Given the description of an element on the screen output the (x, y) to click on. 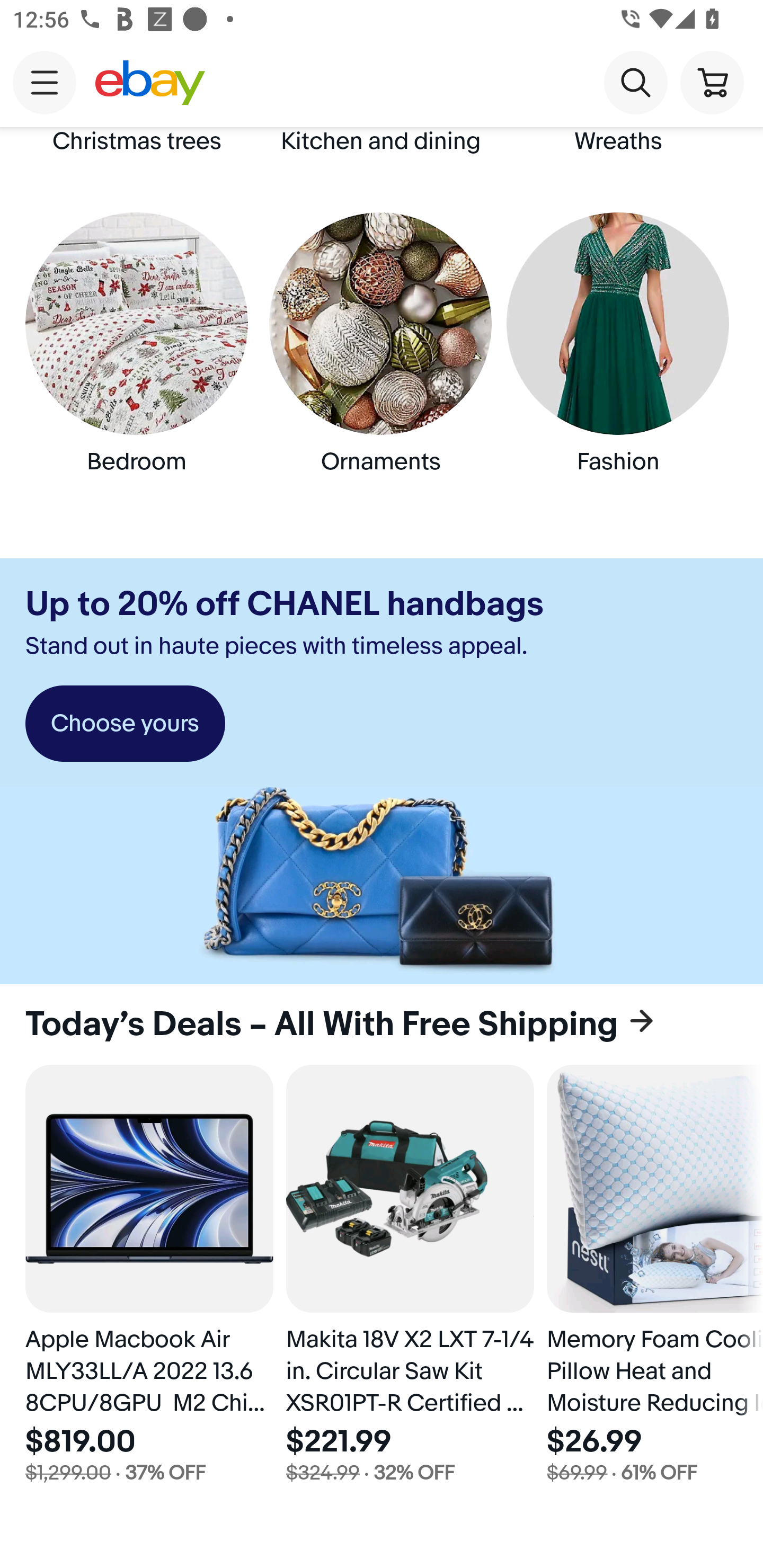
Main navigation, open (44, 82)
Search (635, 81)
Cart button shopping cart (711, 81)
Bedroom (140, 359)
Ornaments (381, 359)
Fashion (621, 359)
Up to 20% off CHANEL handbags (284, 604)
Choose yours (125, 723)
Today’s Deals – All With Free Shipping   (381, 1024)
